Given the description of an element on the screen output the (x, y) to click on. 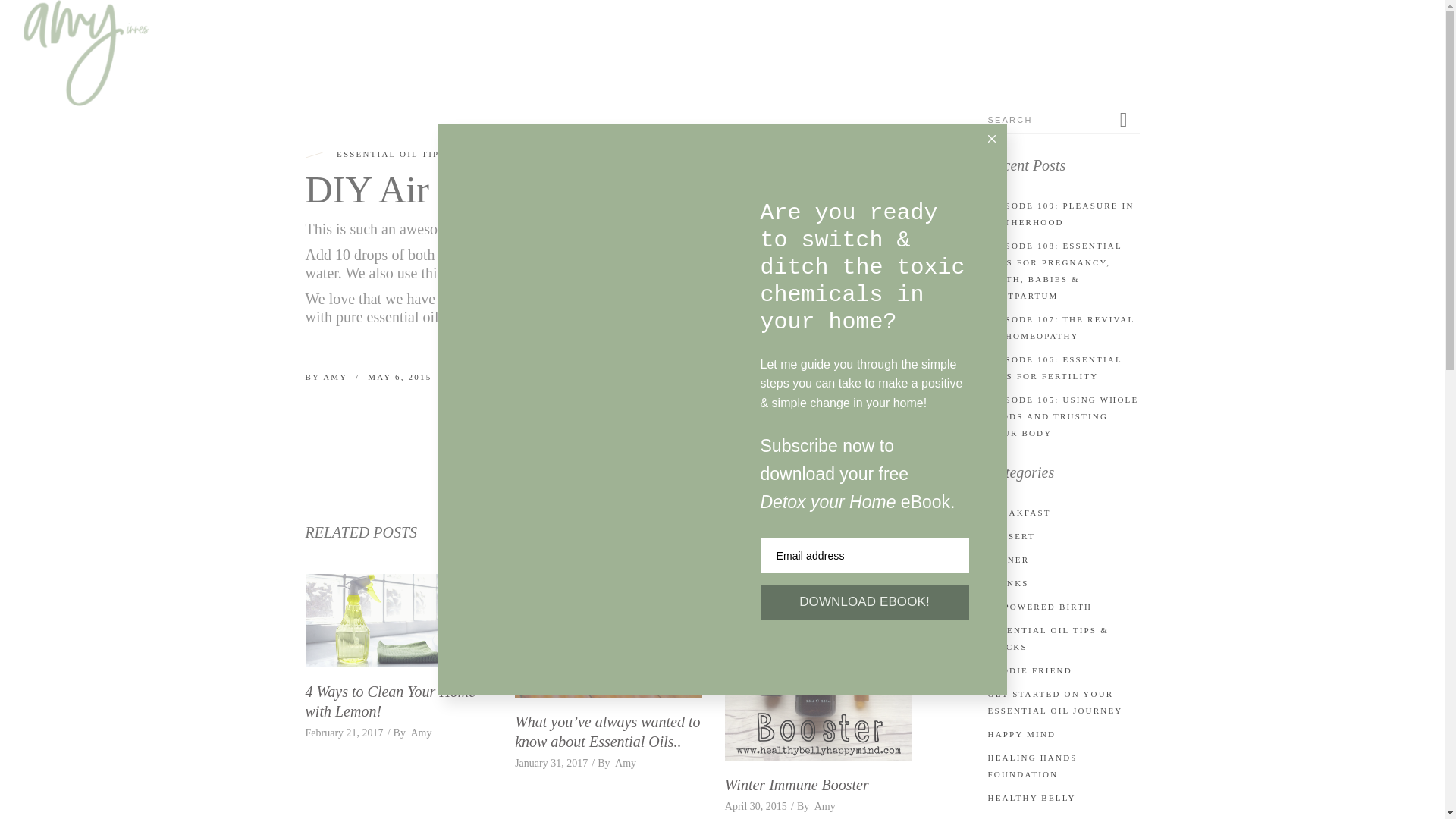
4 Ways to Clean Your Home with Lemon! (390, 701)
HELPFUL LINKS (1214, 38)
Winter Immune Booster (818, 667)
4 Ways to Clean Your Home with Lemon! (398, 620)
ABOUT (1116, 38)
Search for: (1049, 119)
CONTACT (1382, 38)
COURSES (951, 38)
Winter Immune Booster (797, 784)
ORDER ESSENTIAL OILS (824, 38)
PODCAST (1037, 38)
